Given the description of an element on the screen output the (x, y) to click on. 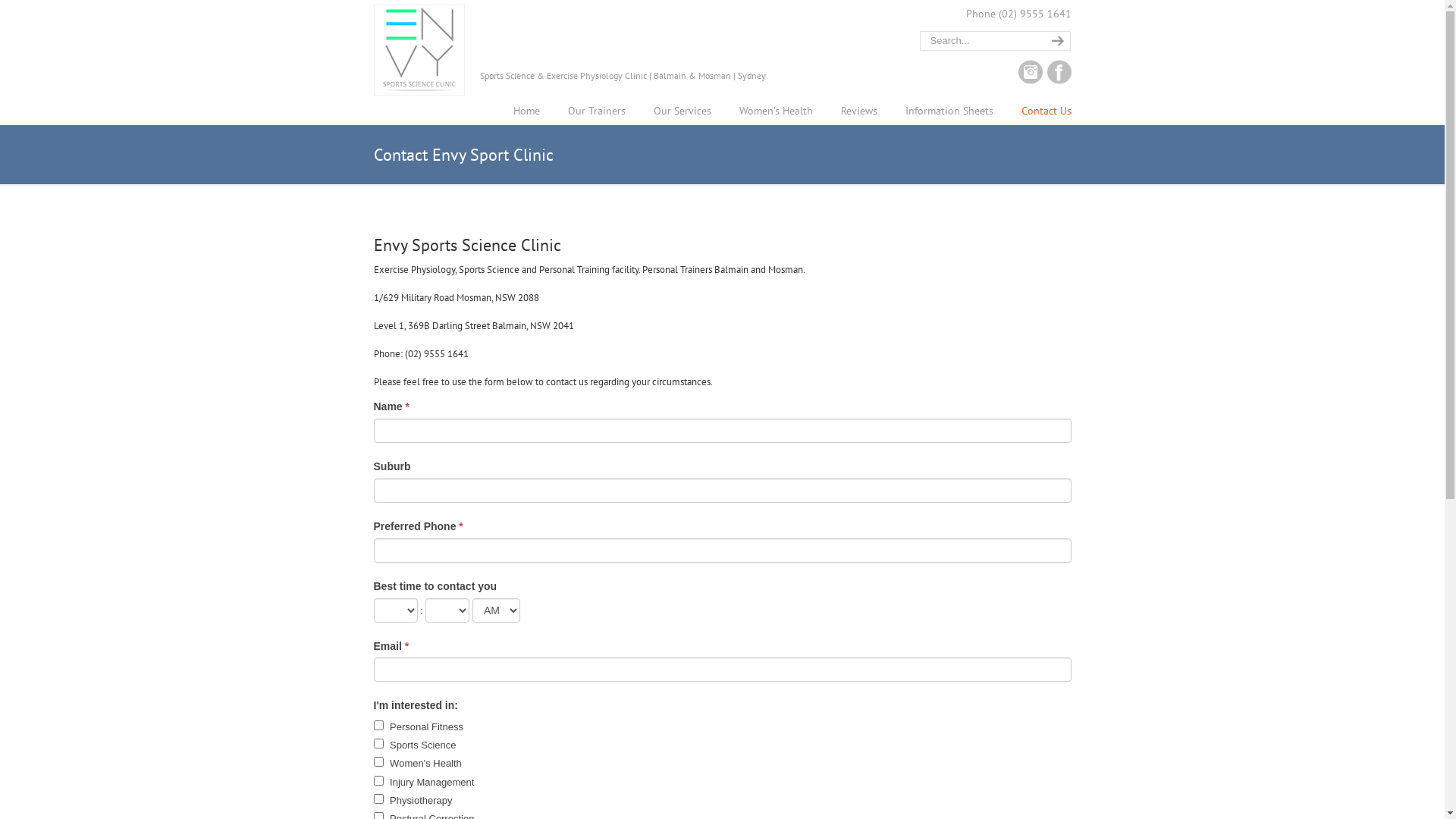
search Element type: text (1055, 40)
Instagram Element type: hover (1029, 80)
Our Services Element type: text (682, 110)
Home Element type: text (525, 110)
Facebook Element type: hover (1058, 80)
Envy Sports Science Clinic Element type: text (418, 49)
Our Trainers Element type: text (596, 110)
Information Sheets Element type: text (949, 110)
Reviews Element type: text (858, 110)
Contact Us Element type: text (1045, 110)
